Given the description of an element on the screen output the (x, y) to click on. 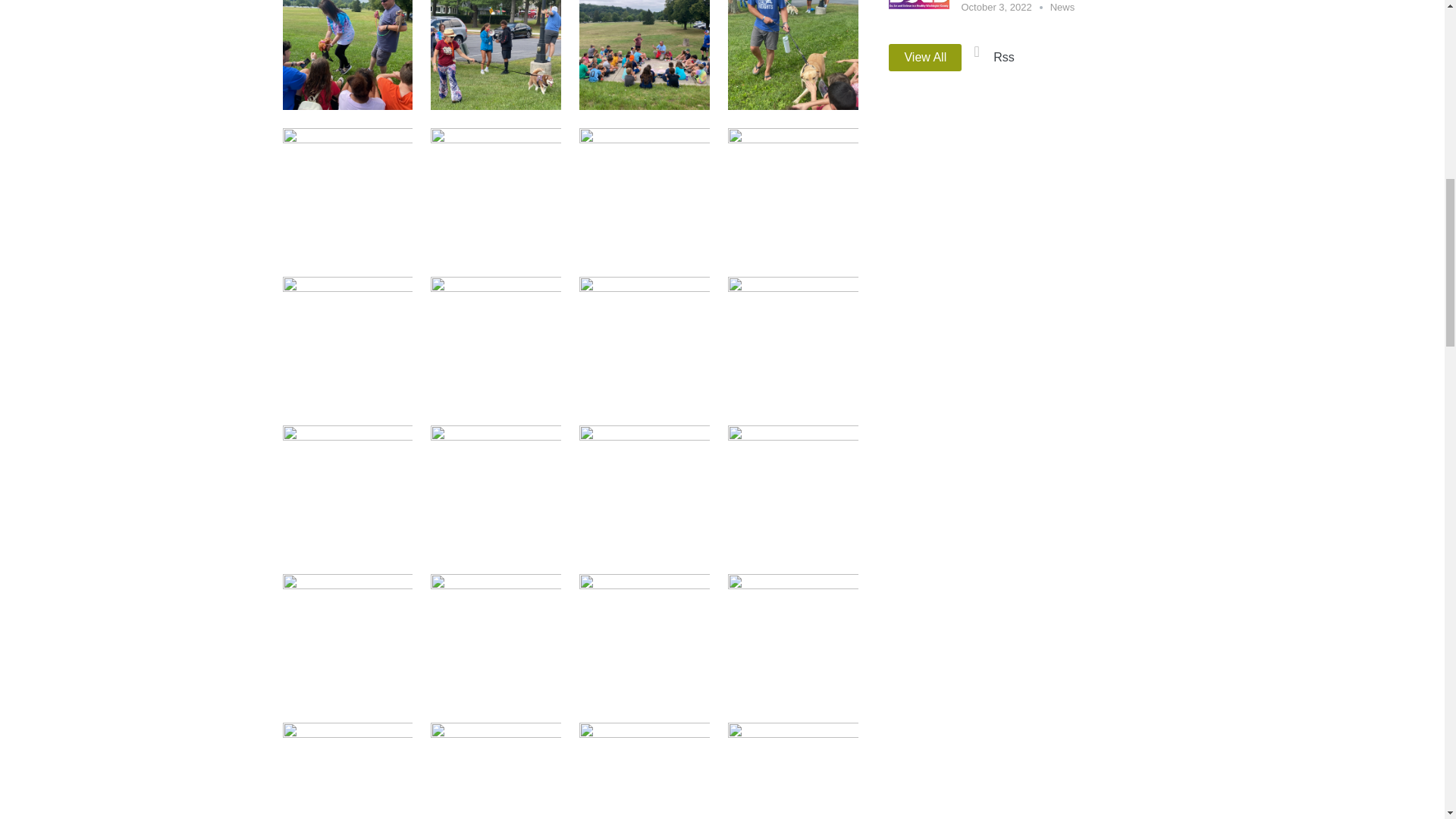
Go for Bold! (918, 19)
